Given the description of an element on the screen output the (x, y) to click on. 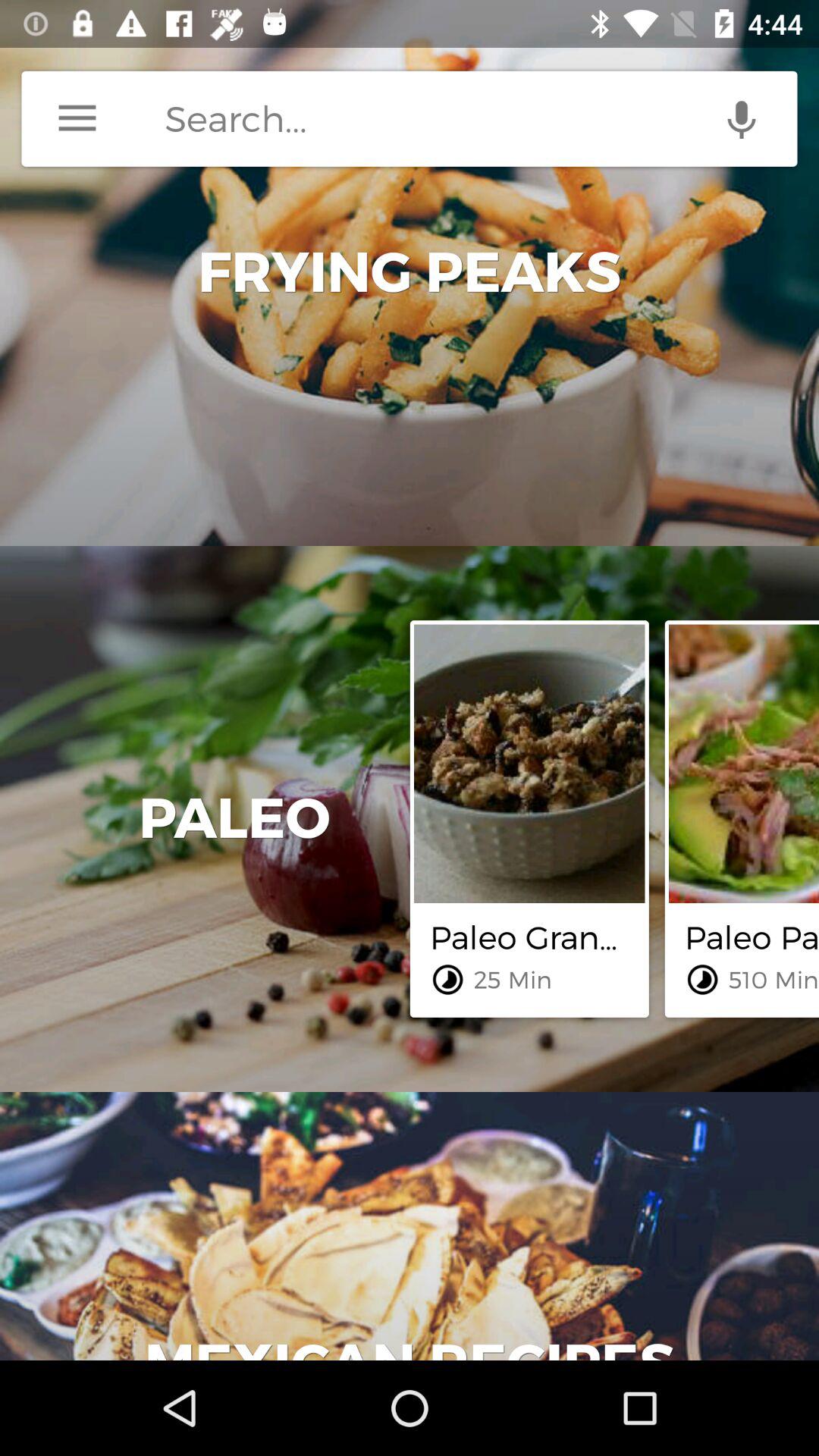
search space (480, 118)
